Given the description of an element on the screen output the (x, y) to click on. 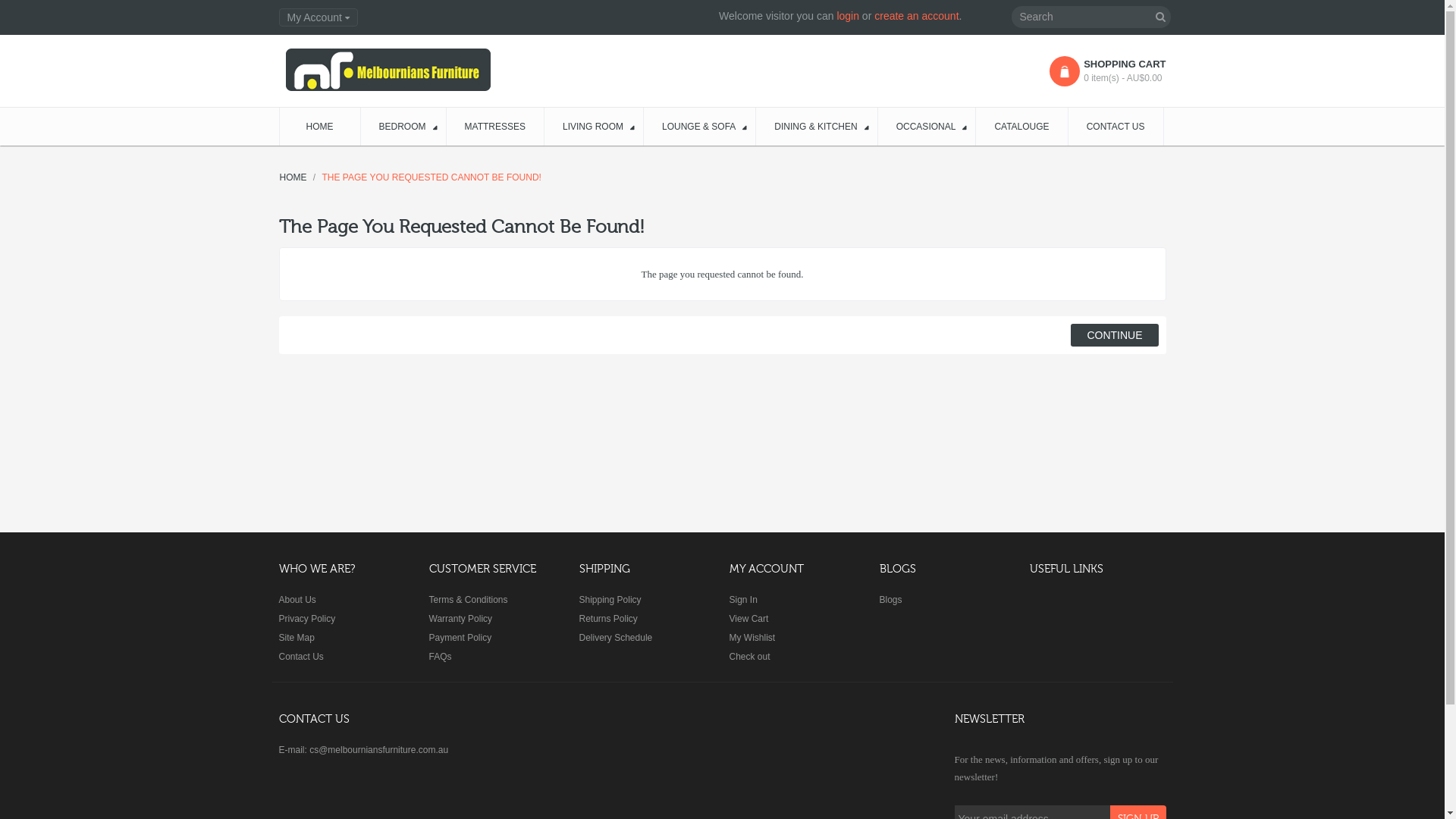
Melbournians Furniture Element type: hover (387, 69)
OCCASIONAL Element type: text (927, 126)
Payment Policy Element type: text (460, 637)
HOME Element type: text (292, 177)
CONTACT US Element type: text (1116, 126)
FAQs Element type: text (440, 656)
create an account Element type: text (916, 15)
Site Map Element type: text (296, 637)
Warranty Policy Element type: text (460, 618)
BEDROOM Element type: text (403, 126)
HOME Element type: text (319, 126)
My Account Element type: text (318, 17)
Terms & Conditions Element type: text (468, 599)
0 item(s) - AU$0.00 Element type: text (1116, 78)
My Wishlist Element type: text (752, 637)
MATTRESSES Element type: text (495, 126)
CONTINUE Element type: text (1113, 334)
DINING & KITCHEN Element type: text (816, 126)
Shipping Policy Element type: text (610, 599)
THE PAGE YOU REQUESTED CANNOT BE FOUND! Element type: text (431, 177)
Contact Us Element type: text (301, 656)
Blogs Element type: text (890, 599)
LIVING ROOM Element type: text (593, 126)
View Cart Element type: text (748, 618)
Sign In Element type: text (743, 599)
Delivery Schedule Element type: text (615, 637)
CATALOUGE Element type: text (1021, 126)
Privacy Policy Element type: text (307, 618)
Check out Element type: text (749, 656)
login Element type: text (847, 15)
LOUNGE & SOFA Element type: text (699, 126)
About Us Element type: text (297, 599)
Returns Policy Element type: text (608, 618)
